Given the description of an element on the screen output the (x, y) to click on. 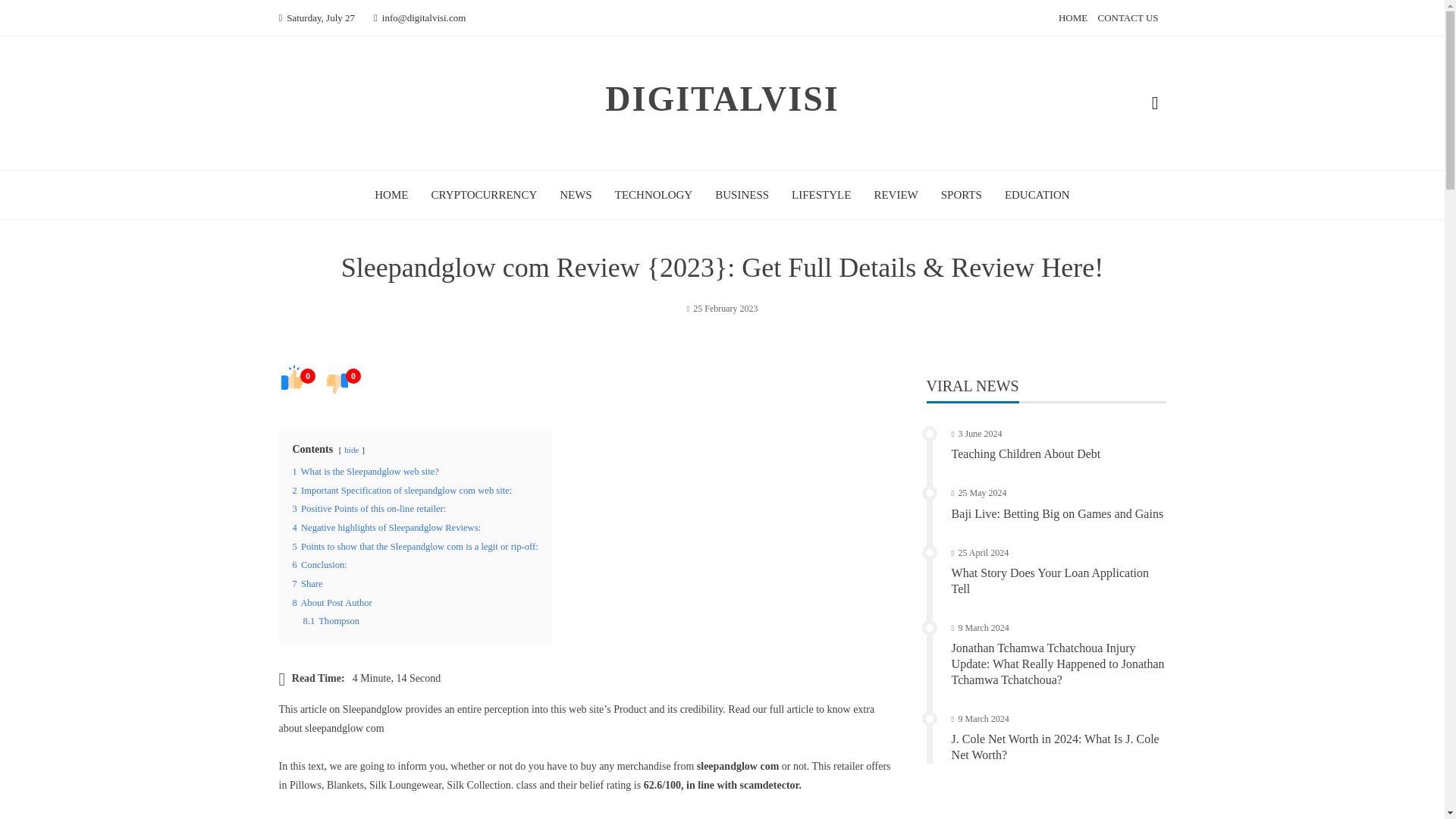
TECHNOLOGY (653, 194)
hide (350, 449)
1 What is the Sleepandglow web site? (365, 471)
HOME (1072, 17)
6 Conclusion: (319, 564)
3 Positive Points of this on-line retailer: (369, 508)
4 Negative highlights of Sleepandglow Reviews: (386, 527)
7 Share (307, 583)
CRYPTOCURRENCY (483, 194)
8 About Post Author (332, 602)
DIGITALVISI (721, 98)
REVIEW (895, 194)
SPORTS (960, 194)
2 Important Specification of sleepandglow com web site: (402, 490)
